Given the description of an element on the screen output the (x, y) to click on. 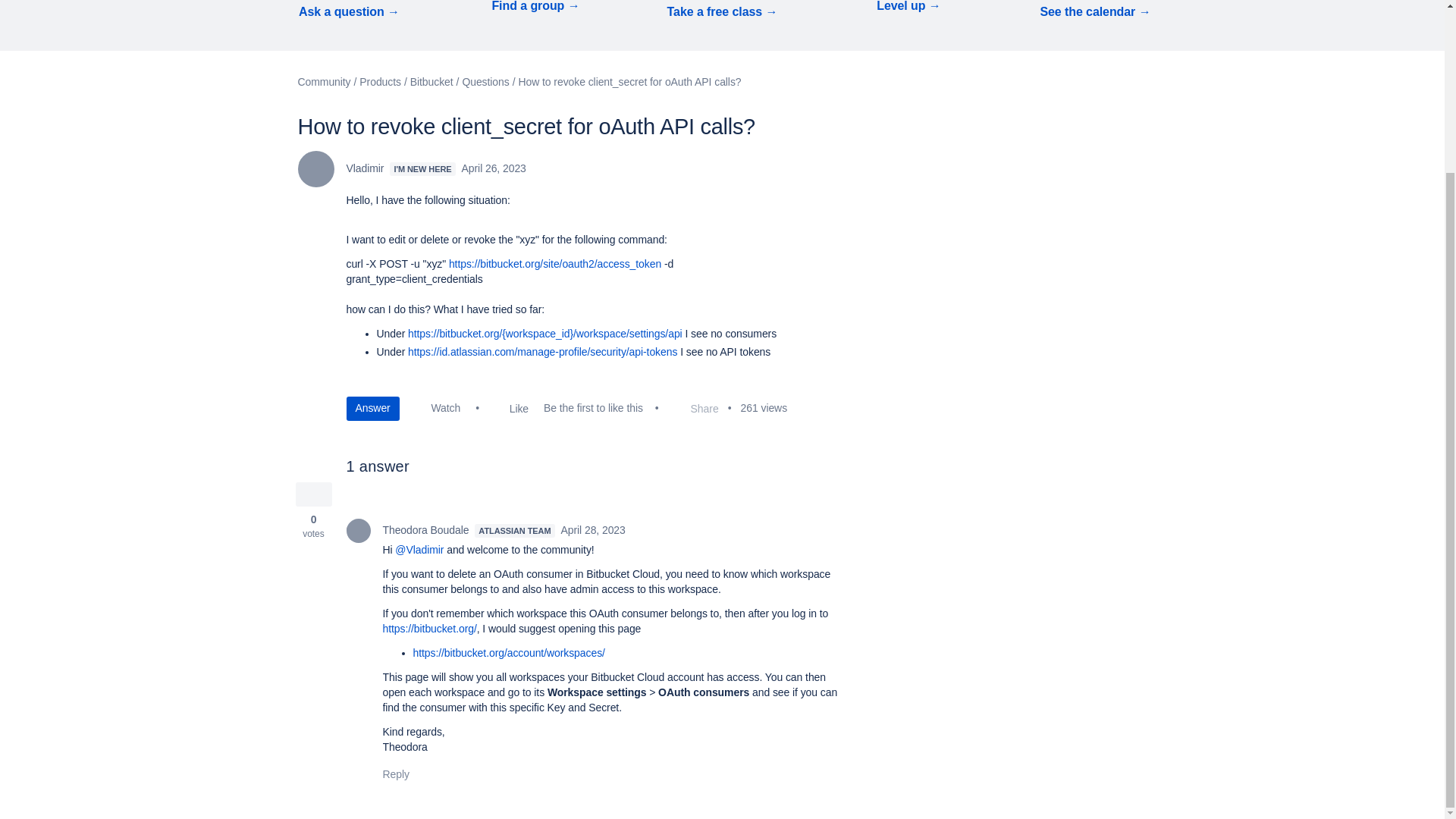
Vladimir (315, 168)
Theodora Boudale (357, 530)
